Given the description of an element on the screen output the (x, y) to click on. 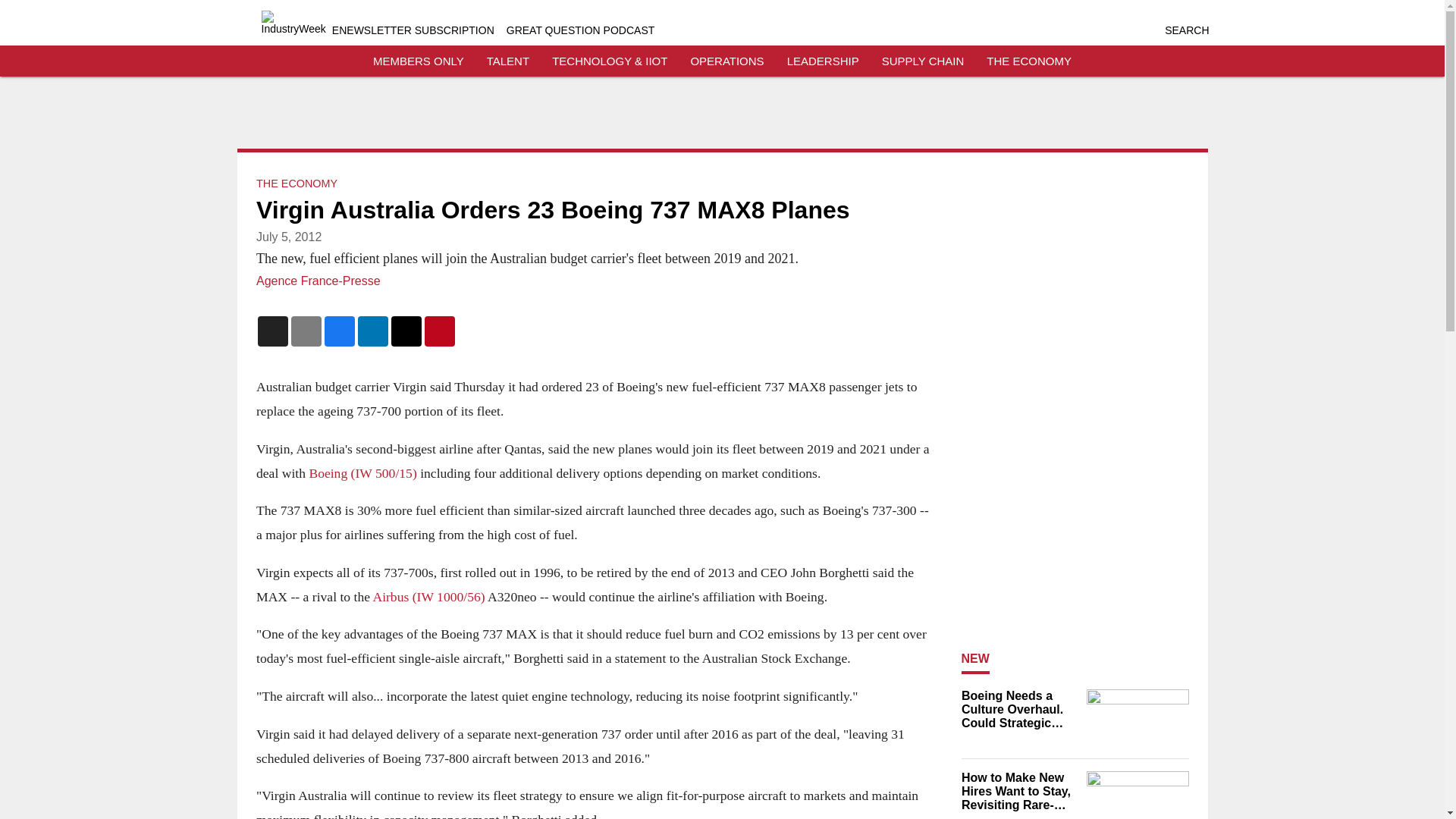
GREAT QUESTION PODCAST (580, 30)
SEARCH (1186, 30)
Agence France-Presse (318, 280)
OPERATIONS (726, 60)
ENEWSLETTER SUBSCRIPTION (413, 30)
MEMBERS ONLY (418, 60)
SUPPLY CHAIN (922, 60)
THE ECONOMY (1029, 60)
THE ECONOMY (296, 183)
LEADERSHIP (823, 60)
TALENT (507, 60)
